Given the description of an element on the screen output the (x, y) to click on. 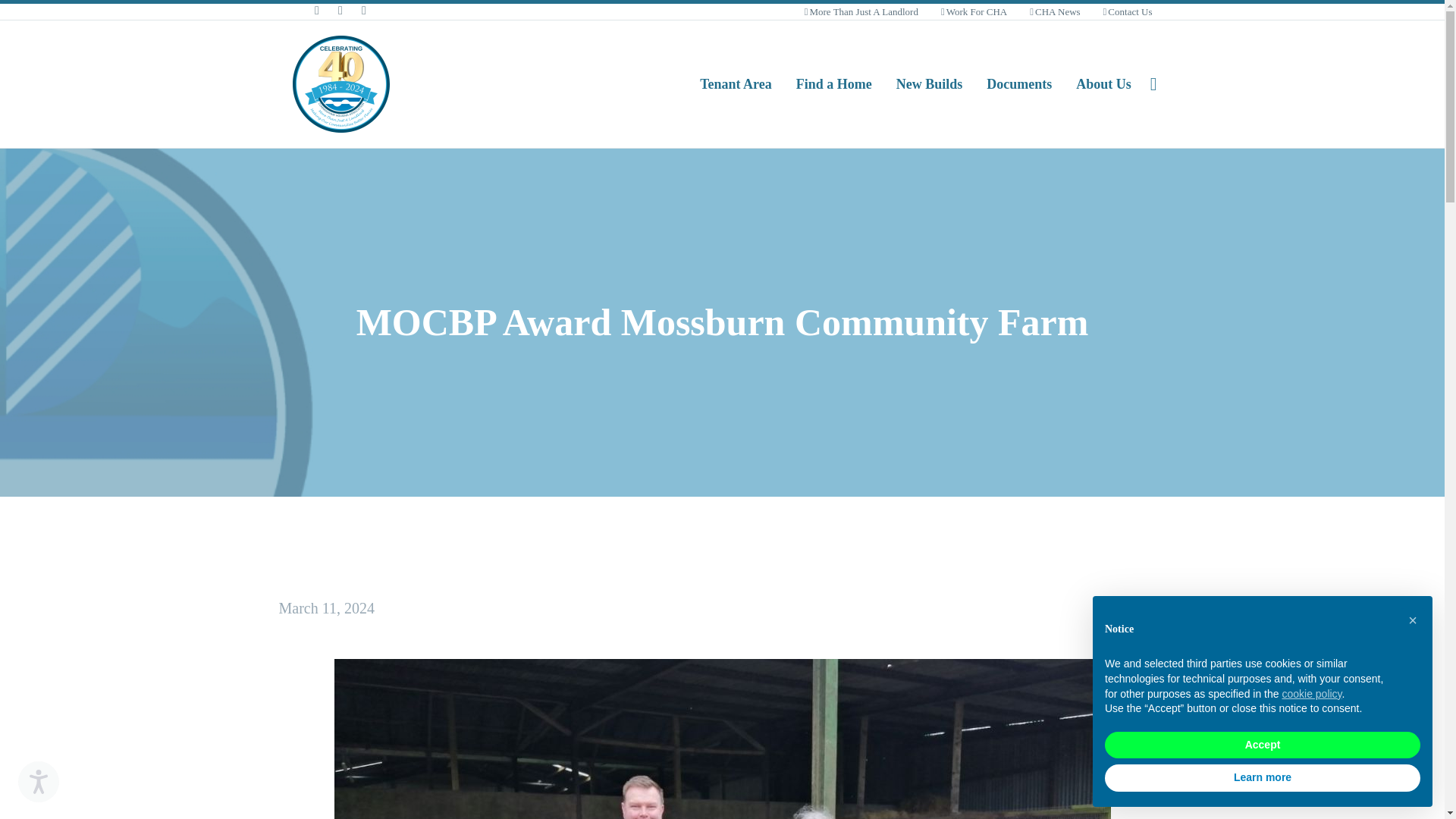
About Us (1103, 84)
Listen with the ReachDeck Toolbar (38, 781)
Find a Home (833, 84)
More Than Just A Landlord (861, 11)
Facebook (317, 10)
Documents (1019, 84)
CHA News (1054, 11)
Twitter (340, 10)
Tenant Area (735, 84)
Contact Us (1128, 11)
Work For CHA (973, 11)
New Builds (929, 84)
YouTube (363, 10)
Mossburn Community Farm (721, 739)
